Given the description of an element on the screen output the (x, y) to click on. 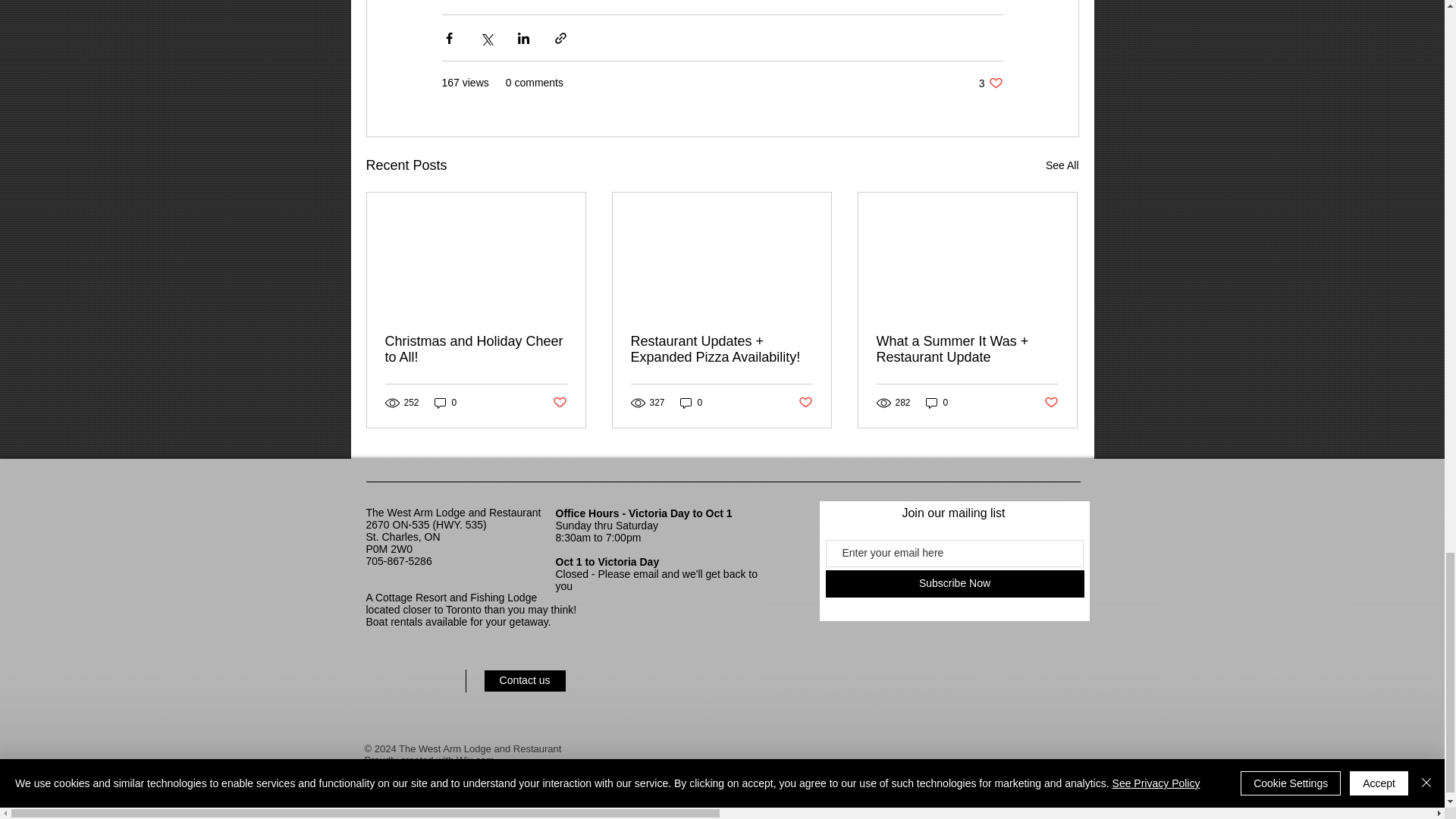
Post not marked as liked (1050, 402)
Post not marked as liked (804, 402)
0 (990, 83)
Subscribe Now (937, 401)
See All (954, 583)
0 (1061, 165)
Post not marked as liked (691, 401)
0 (558, 402)
Christmas and Holiday Cheer to All! (445, 401)
